Given the description of an element on the screen output the (x, y) to click on. 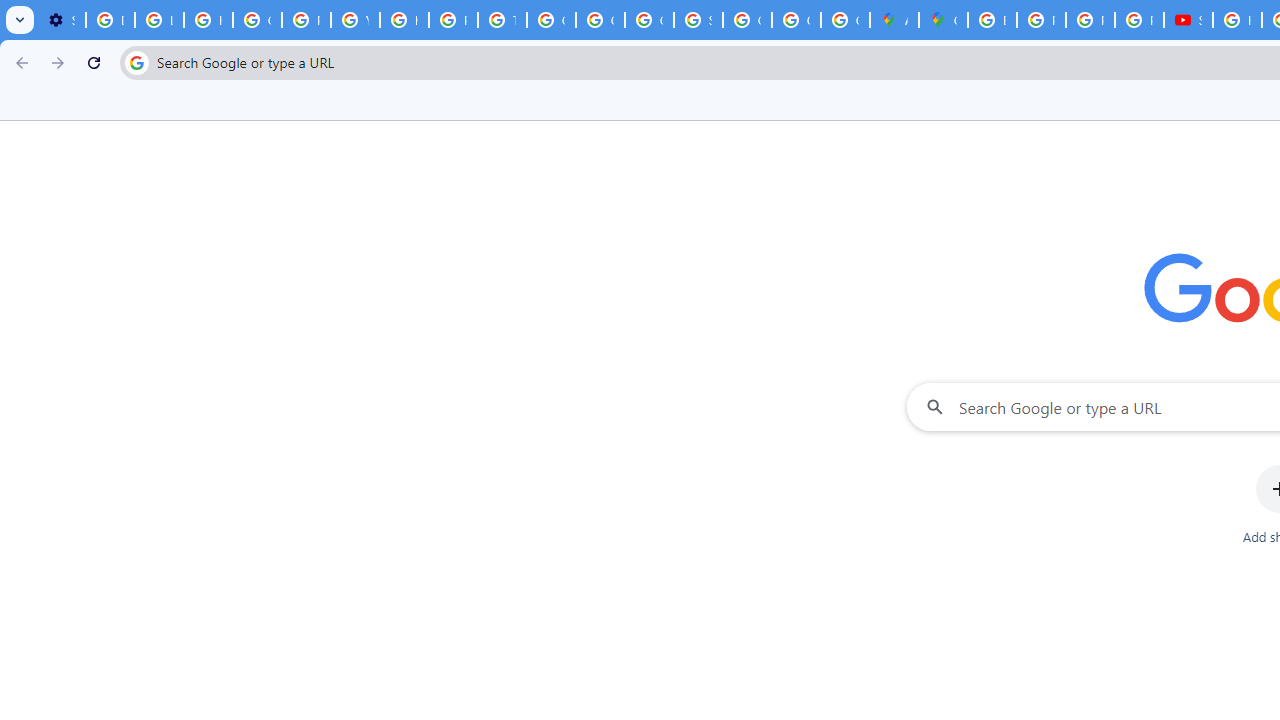
How Chrome protects your passwords - Google Chrome Help (1237, 20)
Google Account Help (257, 20)
Blogger Policies and Guidelines - Transparency Center (992, 20)
